Given the description of an element on the screen output the (x, y) to click on. 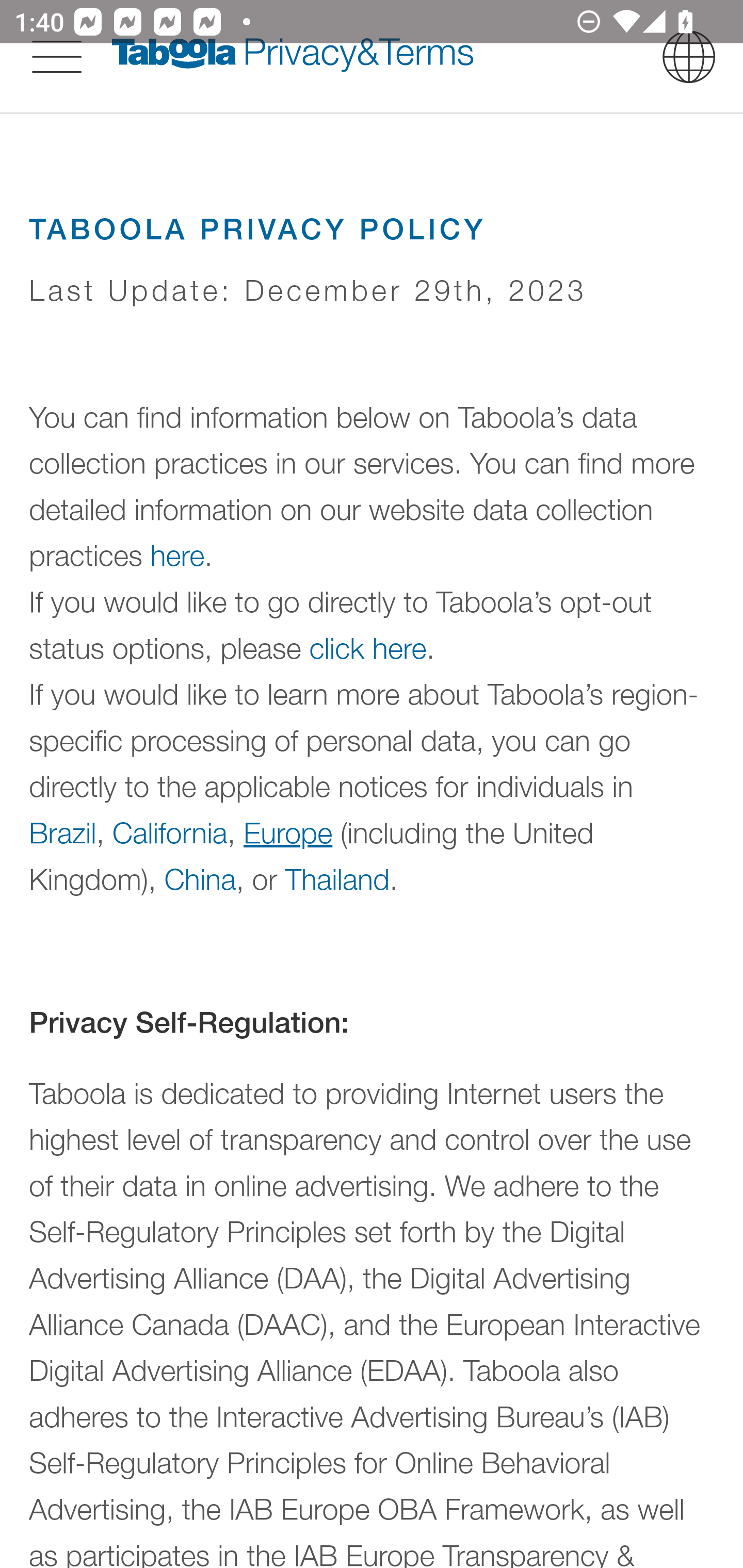
Taboola Privacy & Terms Logo (292, 56)
English (688, 56)
here (177, 555)
click here (367, 648)
Brazil (62, 831)
California (170, 831)
Europe (287, 831)
China (199, 878)
Thailand (337, 878)
